Given the description of an element on the screen output the (x, y) to click on. 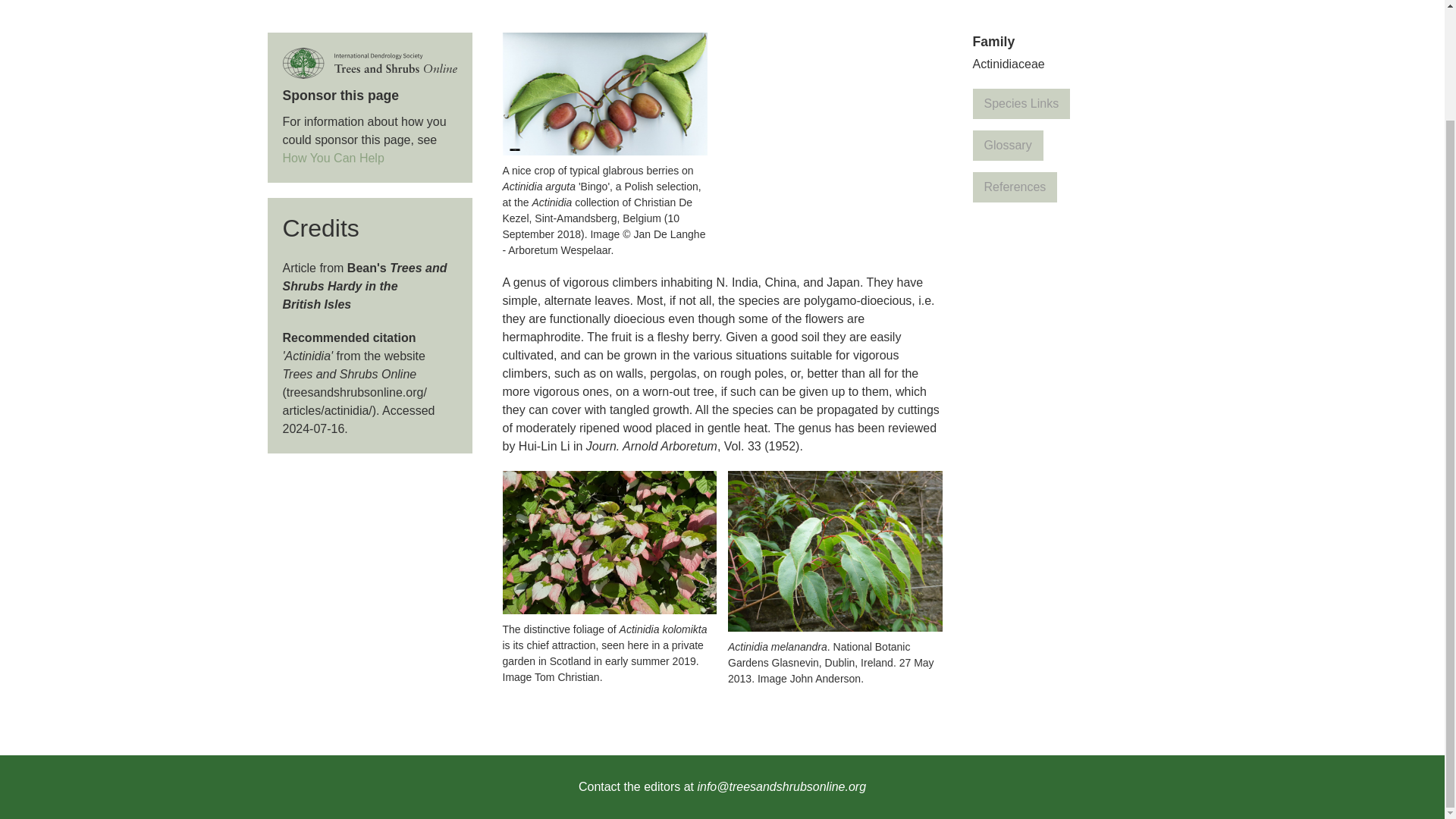
How You Can Help (333, 157)
Glossary (1007, 145)
References (1014, 186)
Species Links (1021, 103)
